Given the description of an element on the screen output the (x, y) to click on. 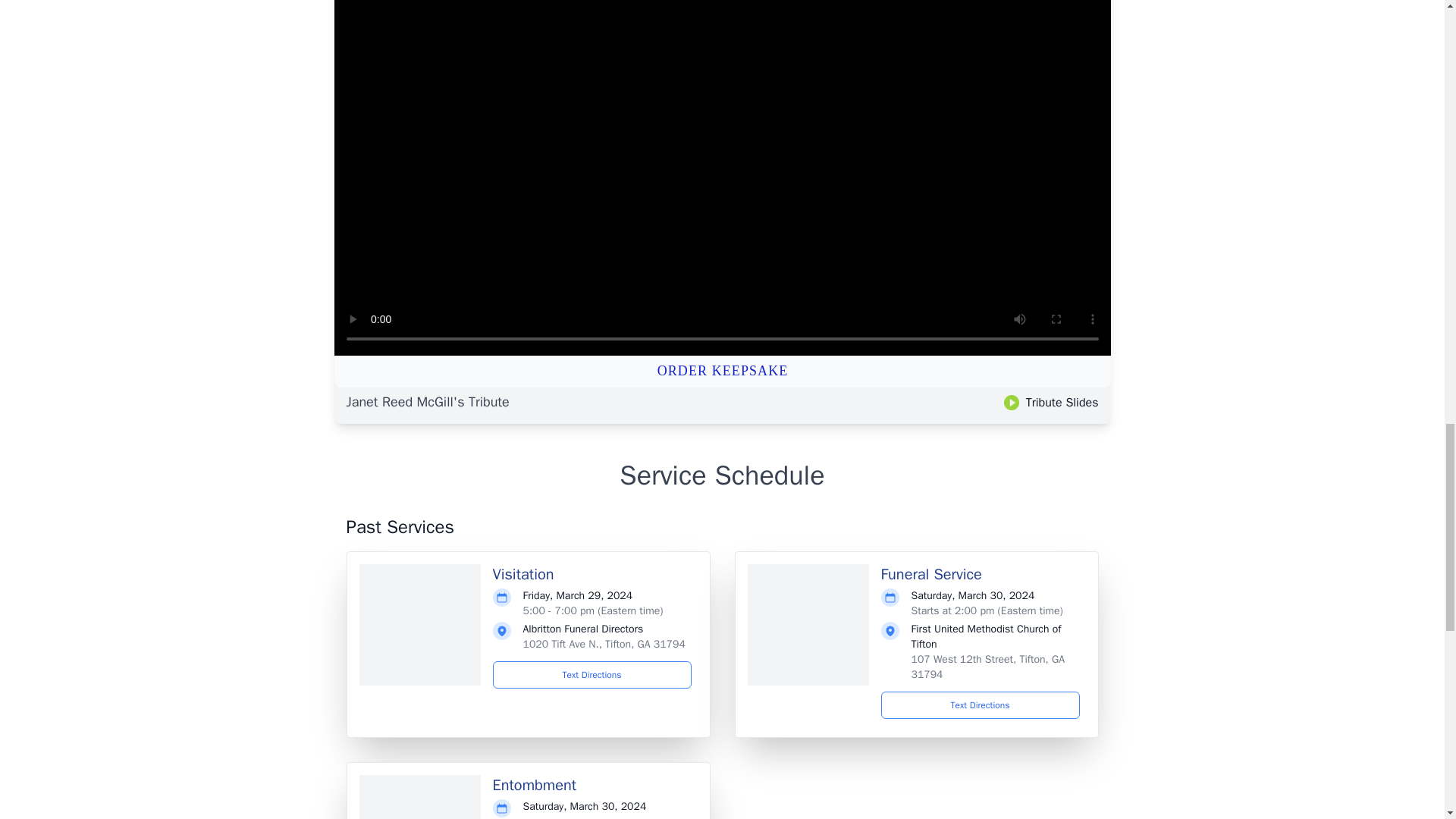
107 West 12th Street, Tifton, GA 31794 (987, 666)
Text Directions (980, 705)
Text Directions (592, 674)
1020 Tift Ave N., Tifton, GA 31794 (603, 644)
